Given the description of an element on the screen output the (x, y) to click on. 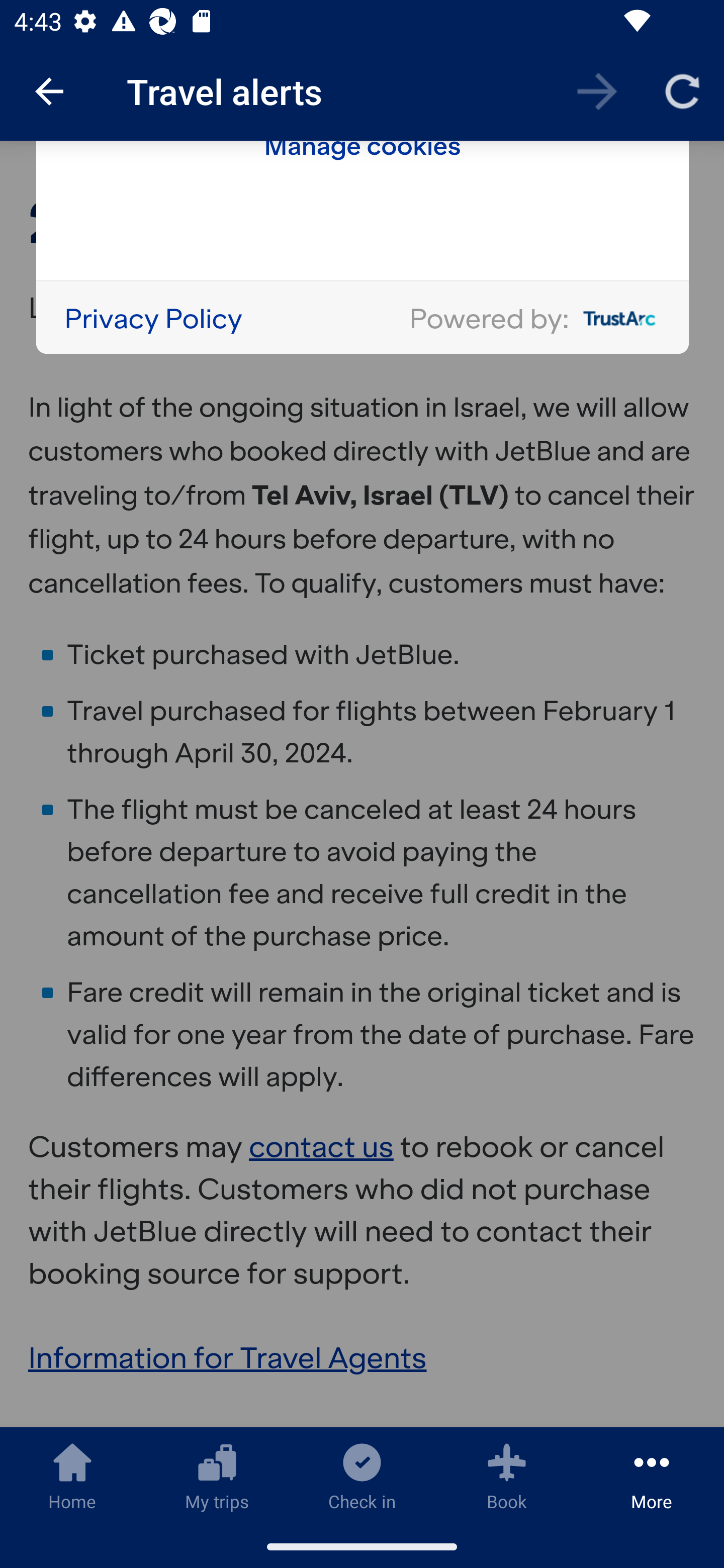
Navigate up (49, 91)
Accept all cookies (362, 78)
Forward (597, 90)
Reload (681, 90)
Manage cookies (362, 148)
Privacy Policy (152, 319)
Company logo for TrustArc (614, 319)
Home (72, 1475)
My trips (216, 1475)
Check in (361, 1475)
Book (506, 1475)
